Given the description of an element on the screen output the (x, y) to click on. 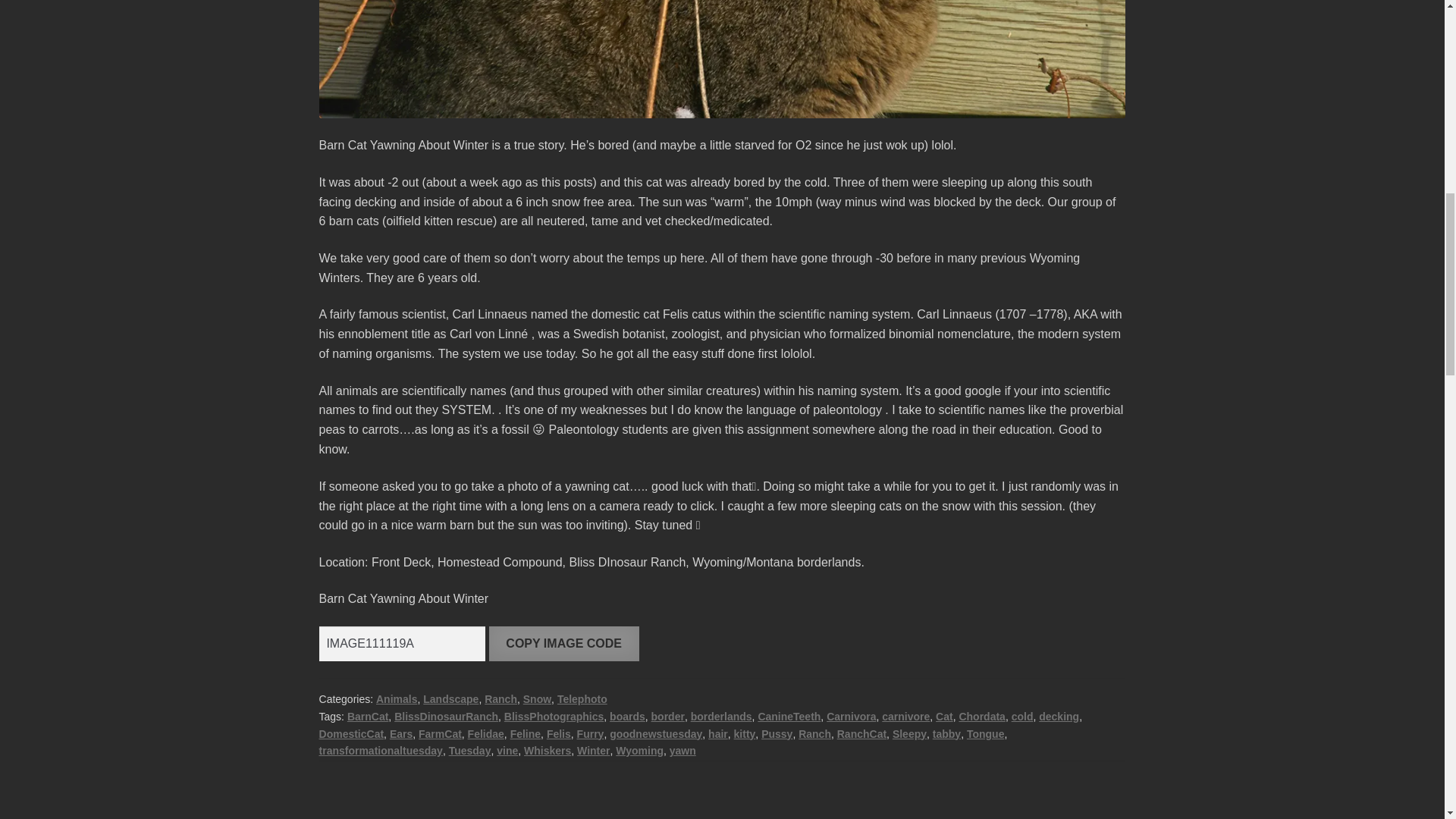
Carnivora (851, 716)
BlissDinosaurRanch (445, 716)
Snow (536, 698)
Cat (944, 716)
BarnCat (367, 716)
COPY IMAGE CODE (564, 643)
border (667, 716)
Landscape (451, 698)
CanineTeeth (789, 716)
DomesticCat (351, 734)
